Given the description of an element on the screen output the (x, y) to click on. 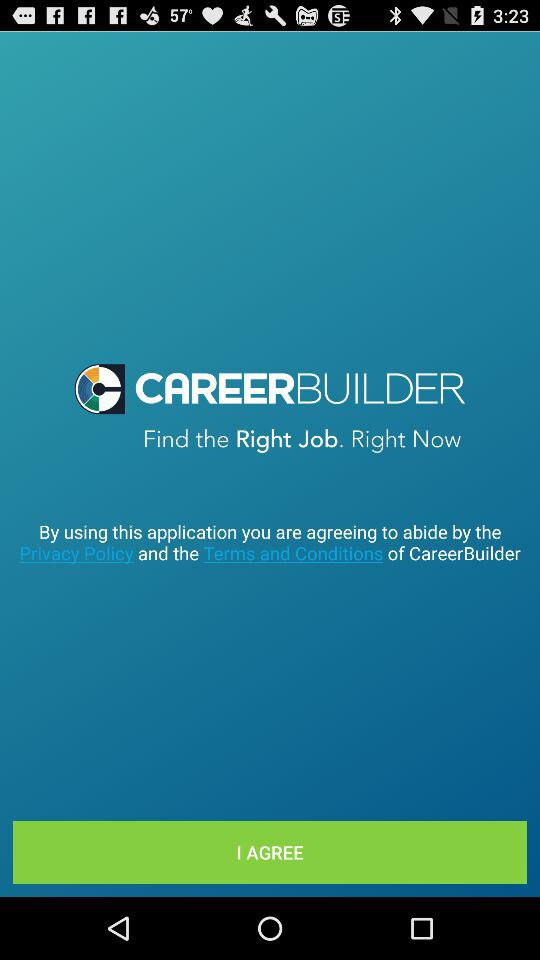
flip to by using this (269, 542)
